Given the description of an element on the screen output the (x, y) to click on. 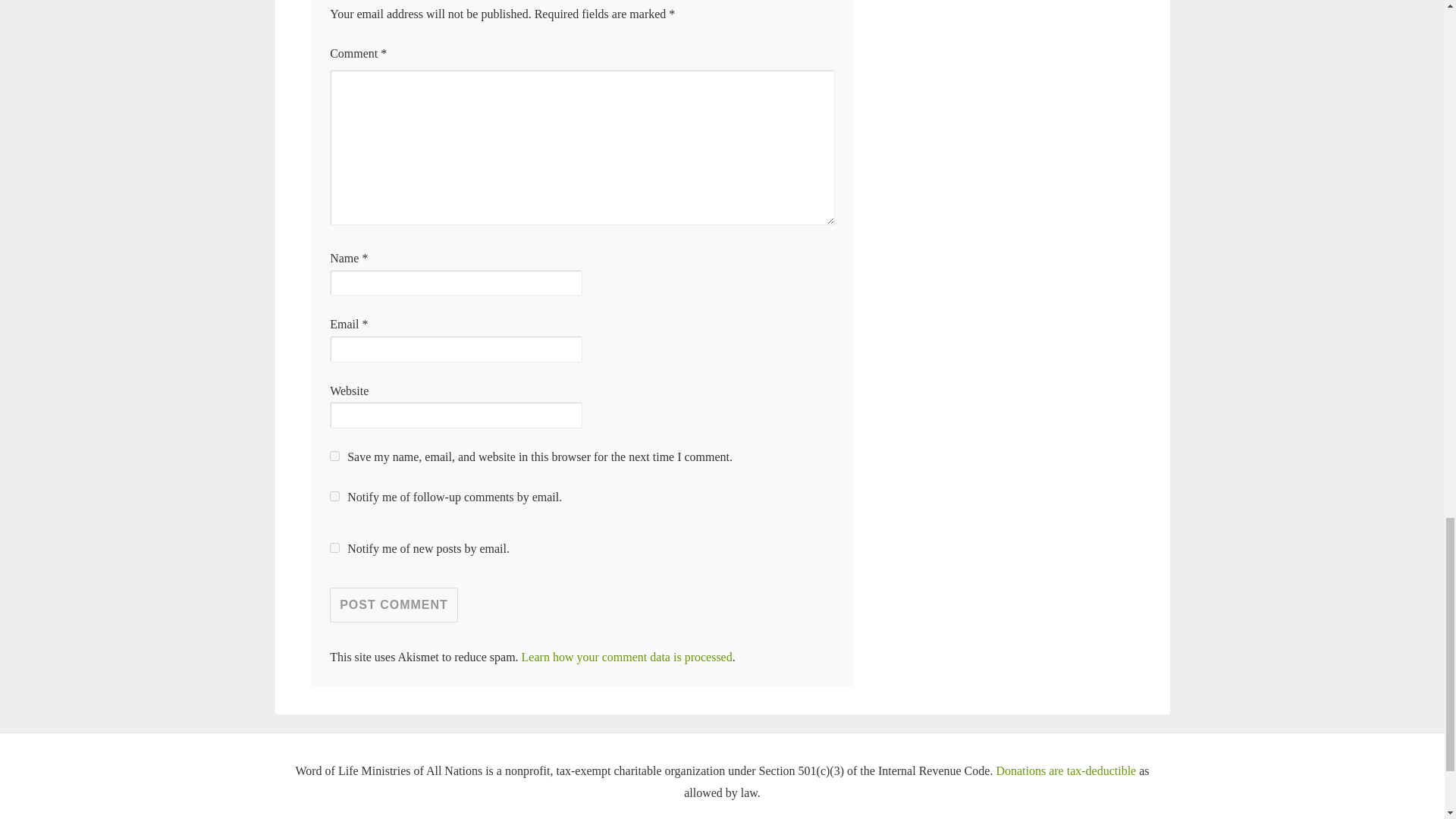
subscribe (334, 496)
yes (334, 456)
Post Comment (394, 605)
subscribe (334, 547)
